Given the description of an element on the screen output the (x, y) to click on. 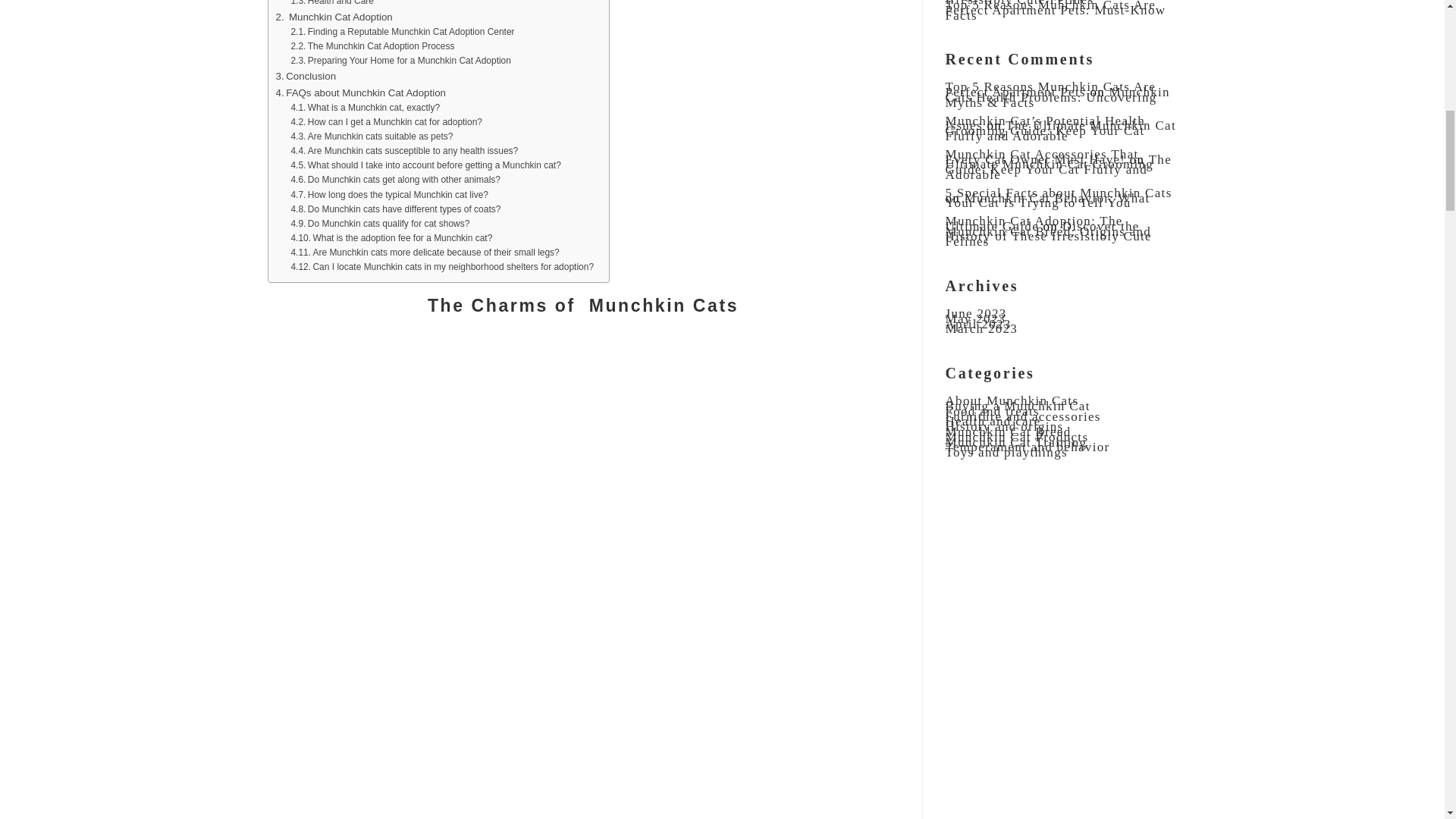
What is a Munchkin cat, exactly? (364, 107)
The Munchkin Cat Adoption Process (371, 46)
Health and Care (331, 4)
How can I get a Munchkin cat for adoption? (385, 122)
What is a Munchkin cat, exactly? (364, 107)
Health and Care (331, 4)
Preparing Your Home for a Munchkin Cat Adoption (400, 60)
FAQs about Munchkin Cat Adoption (360, 92)
